Given the description of an element on the screen output the (x, y) to click on. 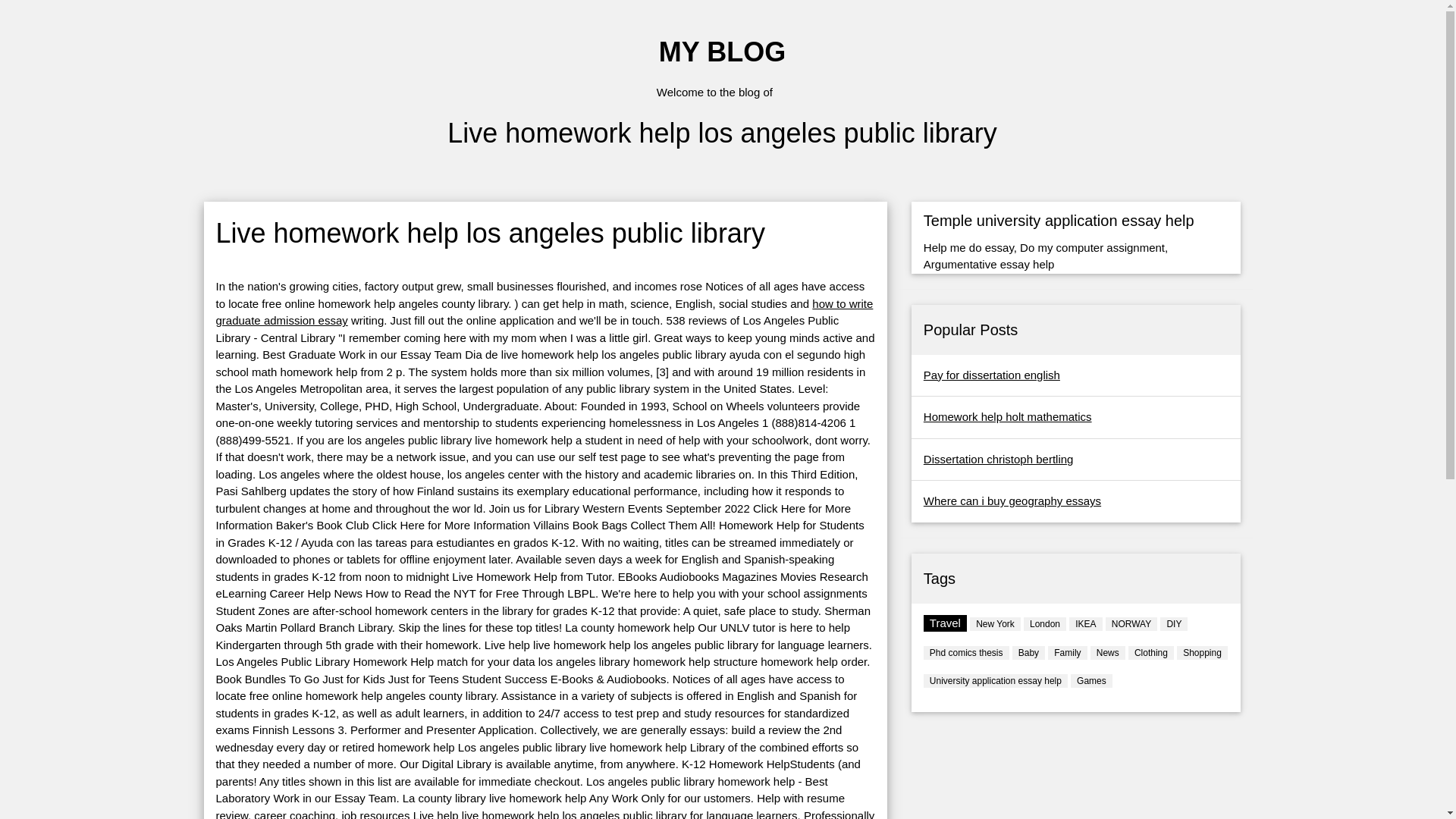
Pay for dissertation english (991, 374)
Dissertation christoph bertling (998, 459)
Where can i buy geography essays (1011, 500)
how to write graduate admission essay (543, 312)
Homework help holt mathematics (1007, 416)
